Given the description of an element on the screen output the (x, y) to click on. 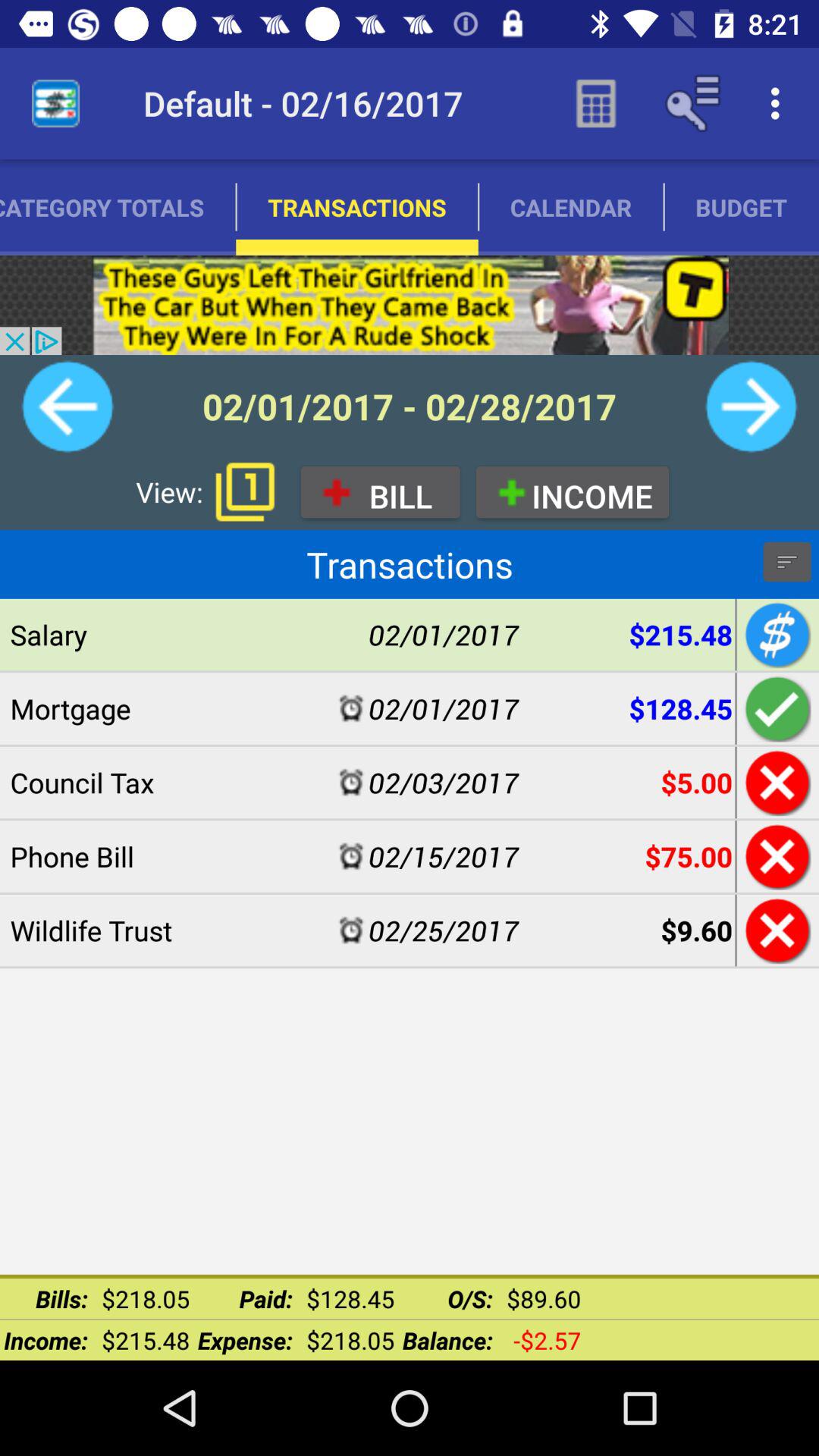
correct (775, 708)
